Given the description of an element on the screen output the (x, y) to click on. 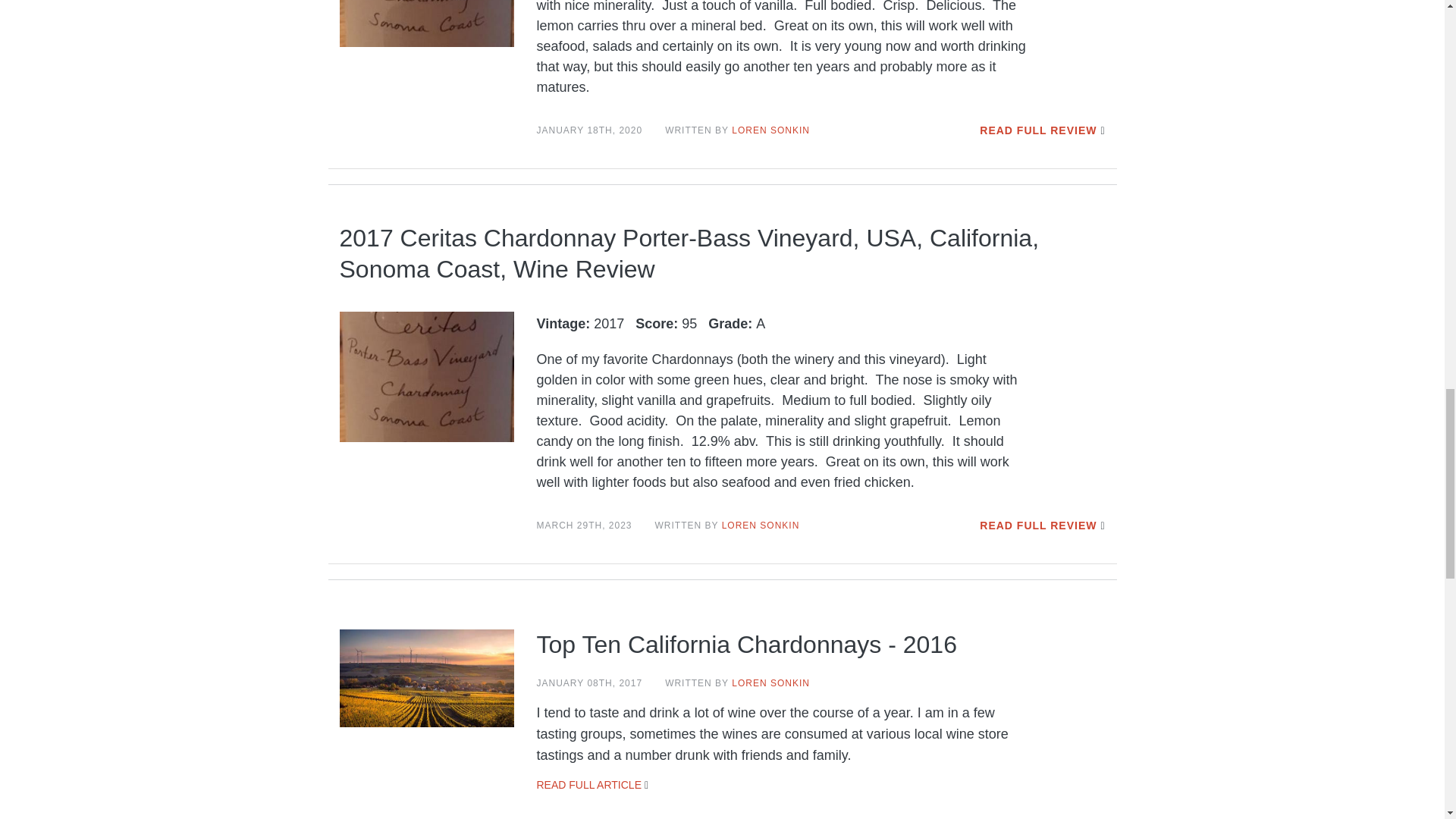
View user profile. (760, 525)
READ FULL REVIEW (1037, 525)
READ FULL ARTICLE (589, 784)
READ FULL REVIEW (1037, 130)
View user profile. (770, 130)
LOREN SONKIN (770, 130)
LOREN SONKIN (770, 683)
View user profile. (770, 683)
Top Ten California Chardonnays - 2016 (746, 644)
LOREN SONKIN (760, 525)
